Given the description of an element on the screen output the (x, y) to click on. 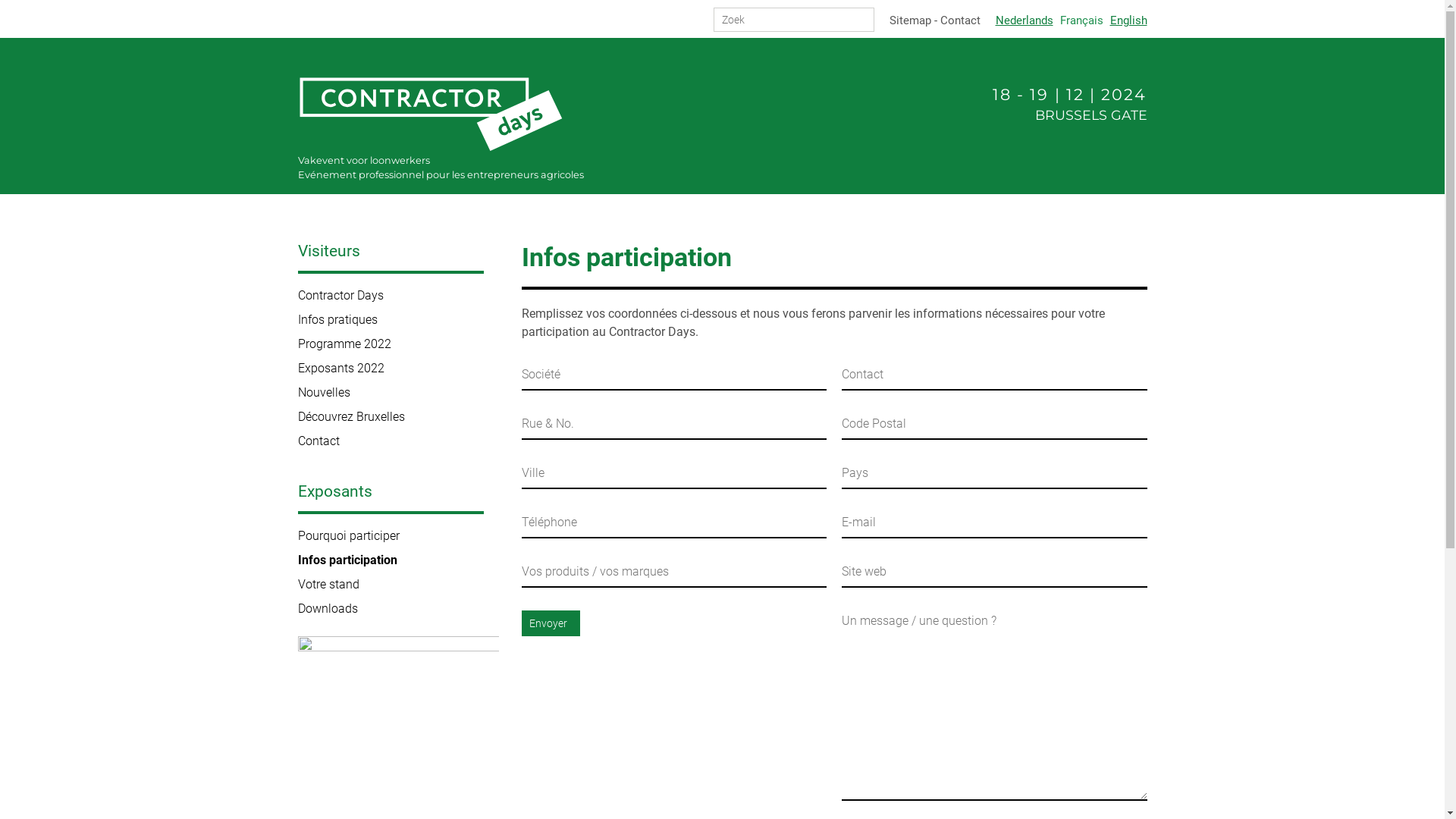
Downloads Element type: text (397, 608)
English Element type: text (1128, 20)
Nederlands Element type: text (1023, 20)
Exposants 2022 Element type: text (397, 368)
Envoyer Element type: text (550, 623)
Infos pratiques Element type: text (397, 319)
Pourquoi participer Element type: text (397, 535)
Contractor Days Element type: text (397, 295)
Contact Element type: text (397, 441)
Infos participation Element type: text (397, 559)
Contact Element type: text (960, 20)
Sitemap Element type: text (909, 20)
Votre stand Element type: text (397, 583)
Nouvelles Element type: text (397, 392)
Exposants Element type: text (390, 498)
Programme 2022 Element type: text (397, 344)
Visiteurs Element type: text (390, 257)
Contractor Days Element type: hover (429, 114)
